Given the description of an element on the screen output the (x, y) to click on. 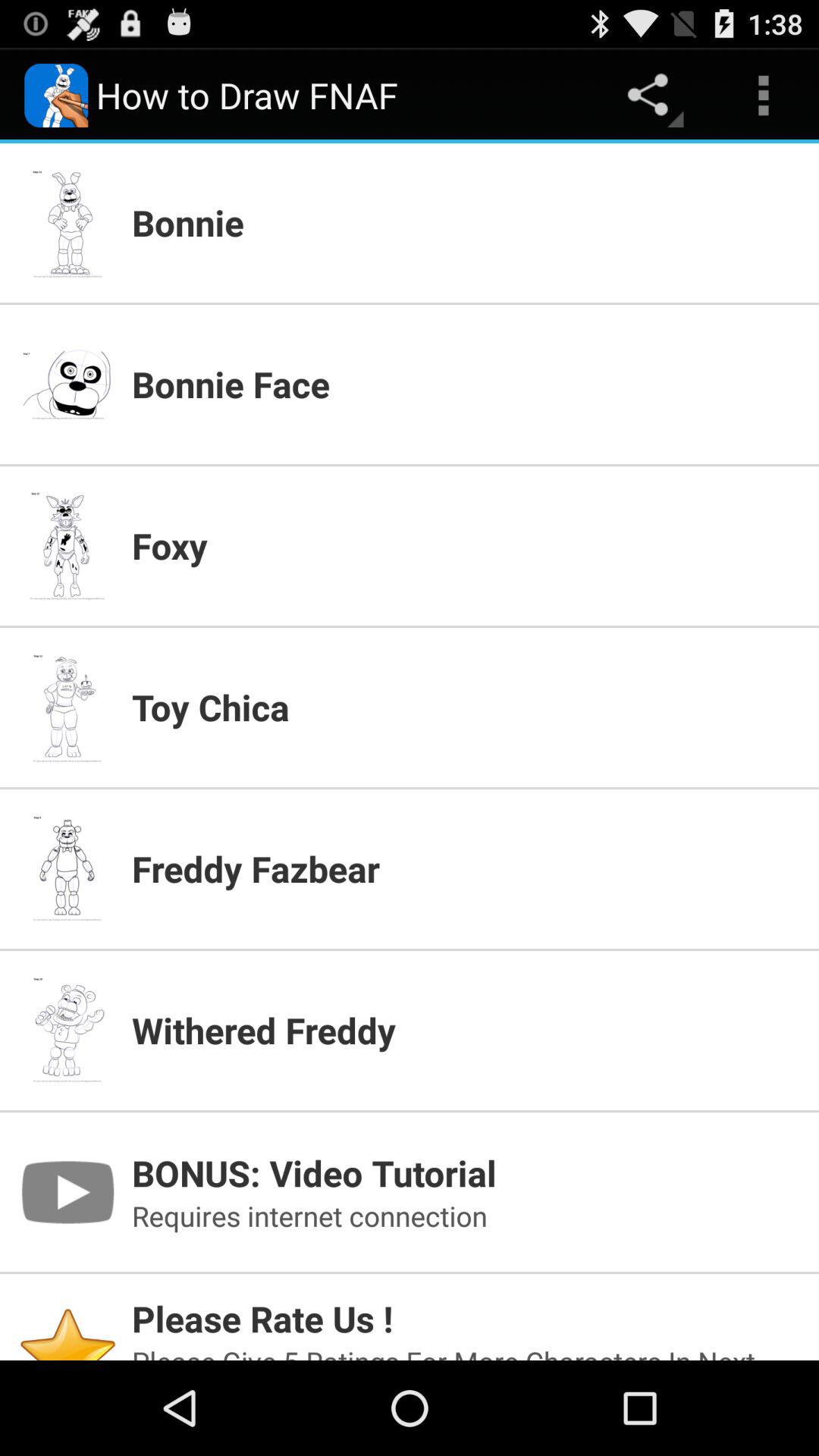
tap the item below the please rate us ! item (465, 1351)
